Given the description of an element on the screen output the (x, y) to click on. 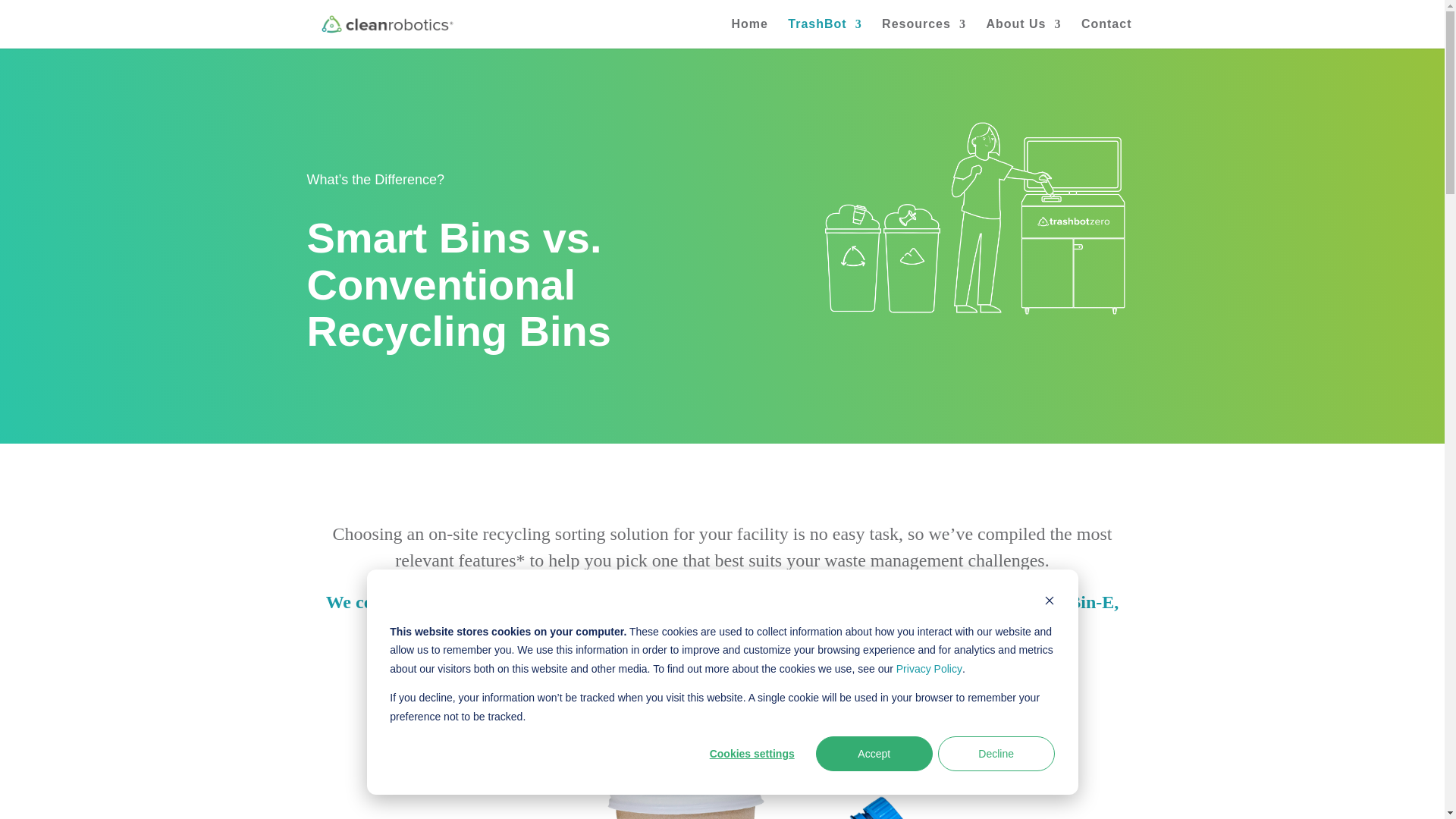
Contact (1106, 33)
TrashBot (824, 33)
Resources (924, 33)
Home (748, 33)
About Us (1023, 33)
Consideration Landing Page Trash ImageCleanRobotics 01 (721, 775)
